Given the description of an element on the screen output the (x, y) to click on. 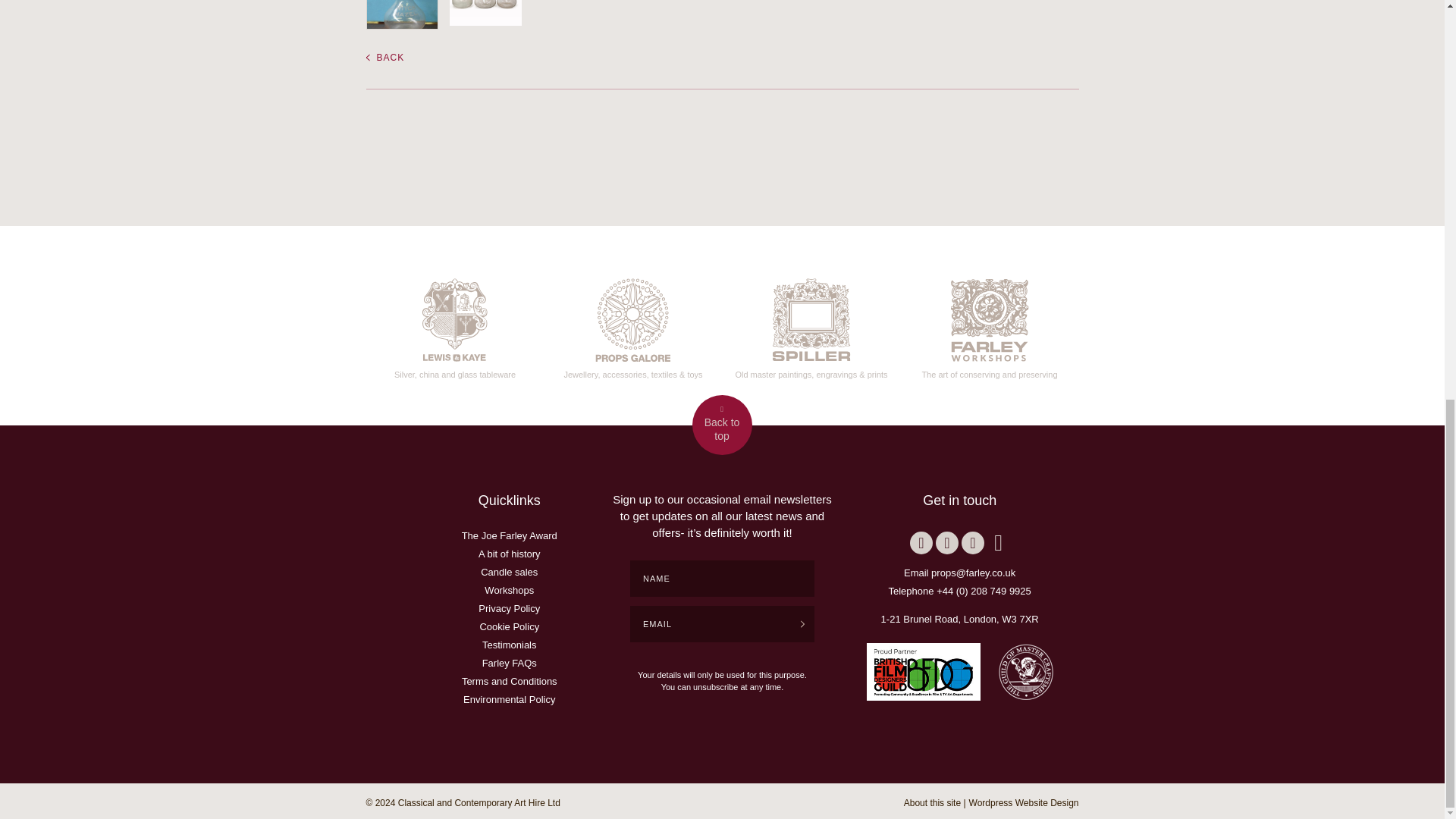
The Joe Farley Award (509, 535)
Candle sales (508, 572)
Cookie Policy (508, 626)
Back to top (721, 424)
Testimonials (509, 644)
BACK (384, 57)
Silver, china and glass tableware (454, 324)
The art of conserving and preserving (989, 324)
A bit of history (509, 553)
Privacy Policy (509, 608)
Workshops (509, 590)
